Given the description of an element on the screen output the (x, y) to click on. 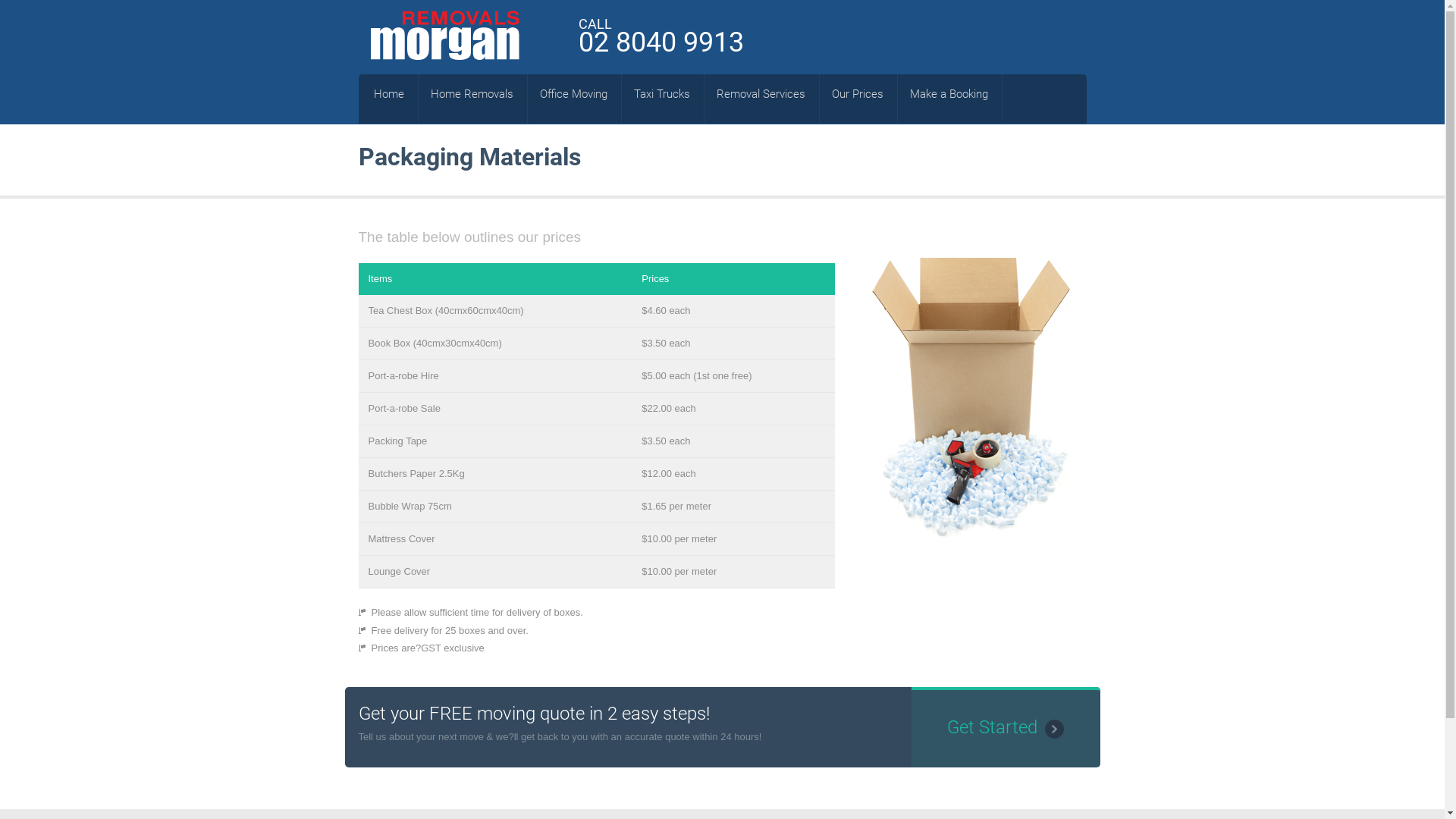
Home Removals Element type: text (471, 94)
Removal Services Element type: text (760, 94)
Our Prices Element type: text (857, 94)
Make a Booking Element type: text (949, 94)
Office Moving Element type: text (573, 94)
Taxi Trucks Element type: text (661, 94)
Home Element type: text (388, 94)
Get Started Element type: text (1005, 726)
